Given the description of an element on the screen output the (x, y) to click on. 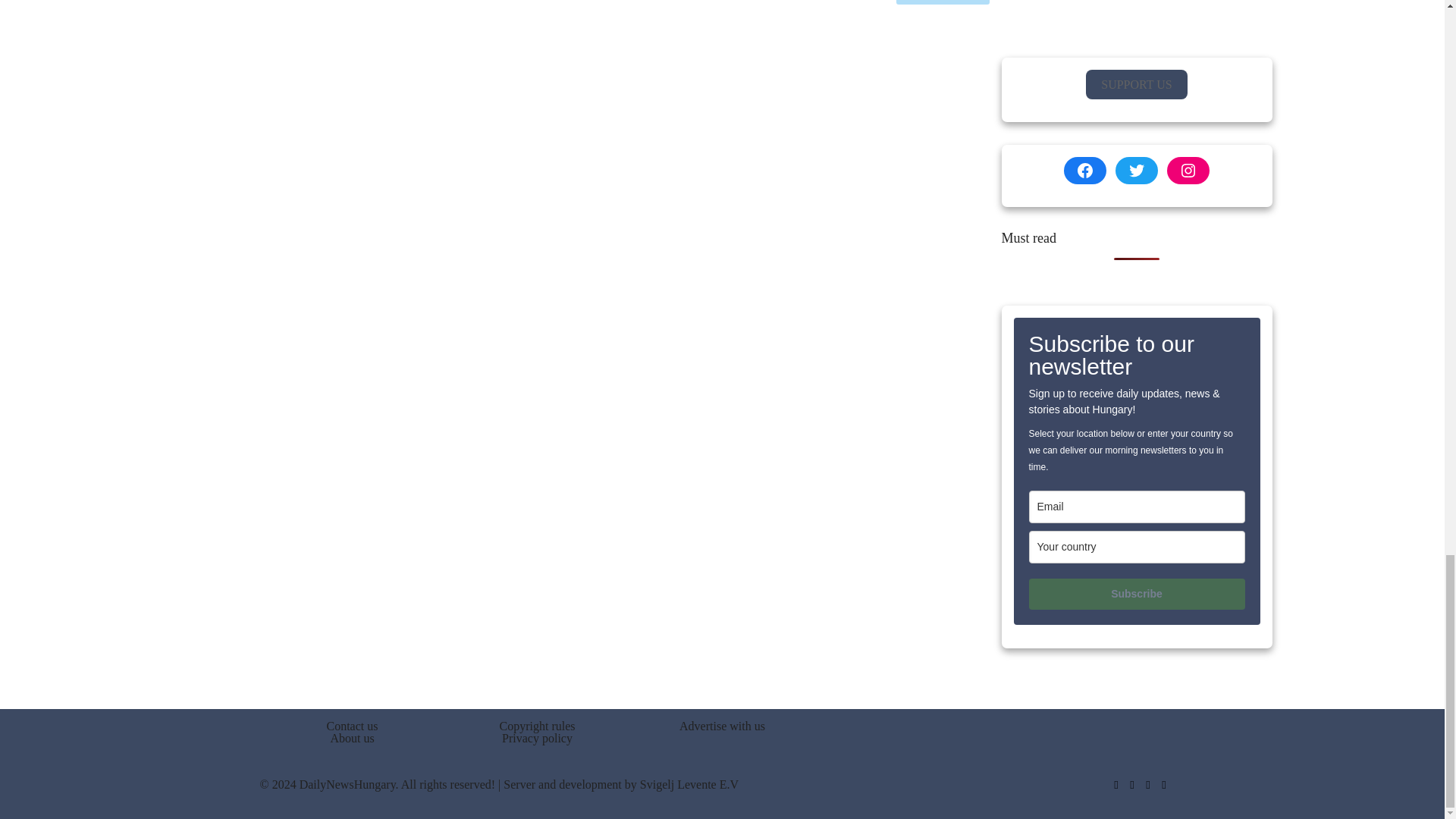
Facebook (1115, 784)
Post Comment (943, 2)
Instagram (1147, 784)
RSS (1164, 784)
